Given the description of an element on the screen output the (x, y) to click on. 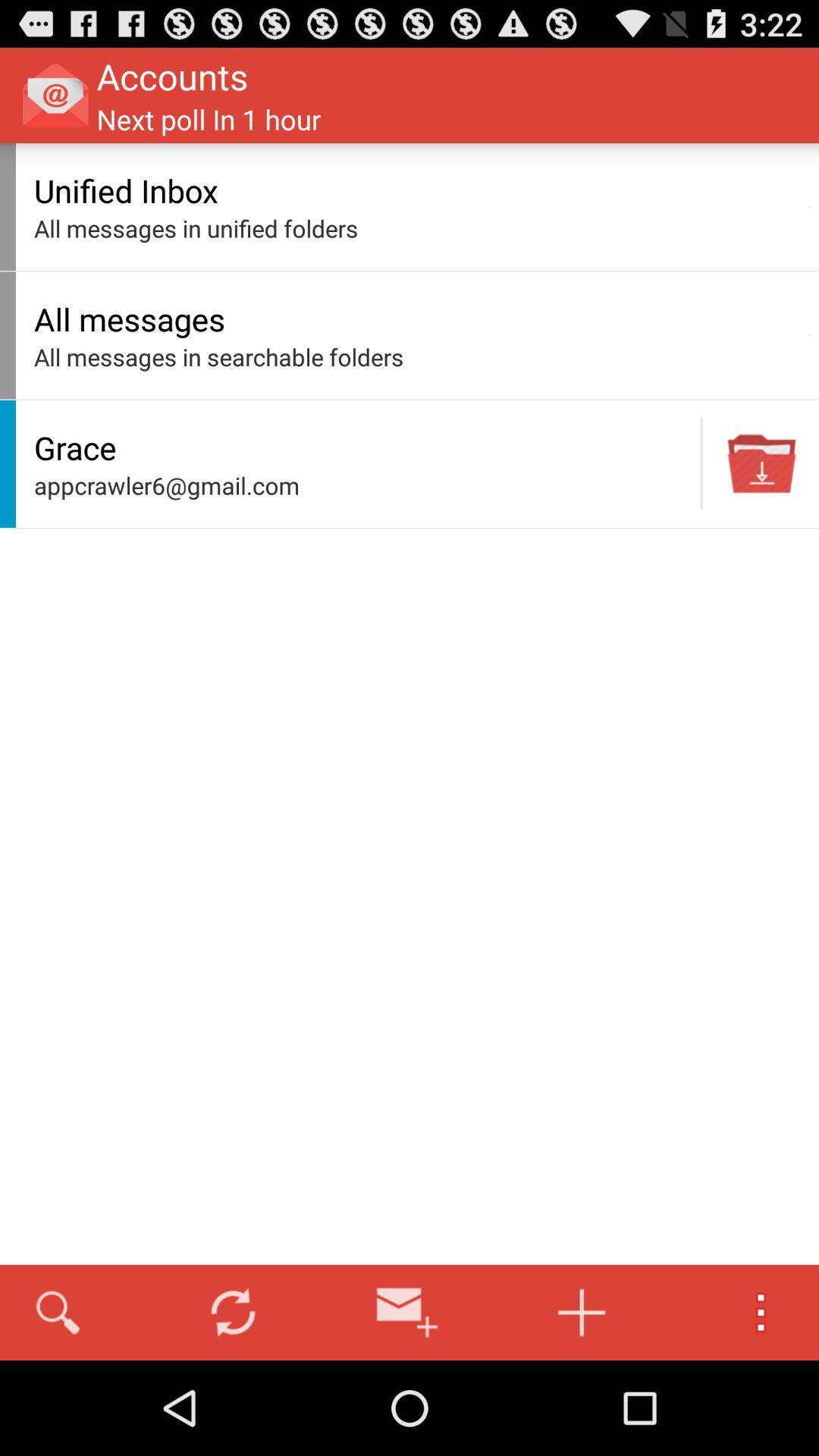
swipe to unified inbox item (417, 190)
